Given the description of an element on the screen output the (x, y) to click on. 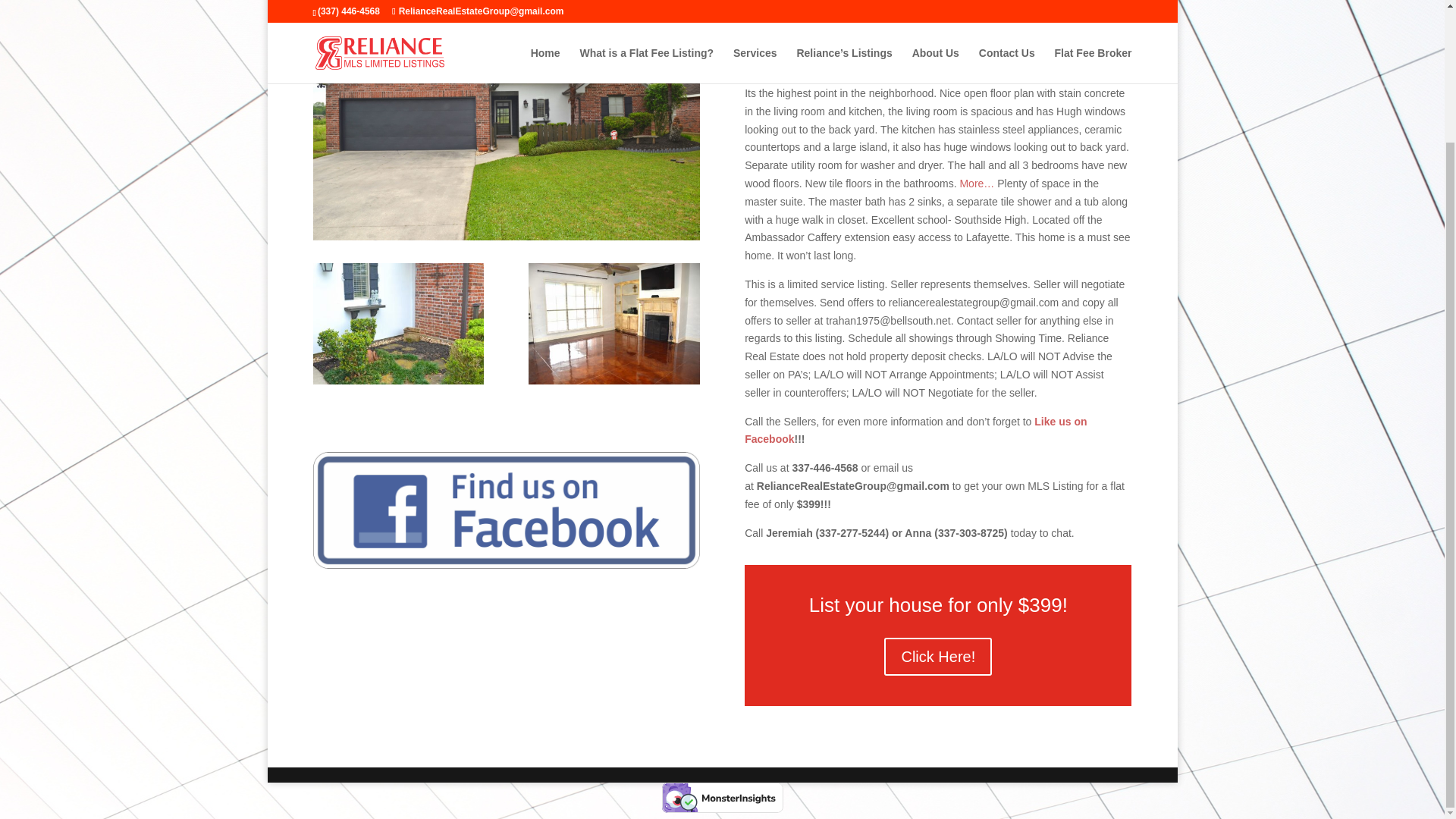
Click Here! (937, 656)
Verified by MonsterInsights (722, 797)
Like us on Facebook (915, 430)
